Given the description of an element on the screen output the (x, y) to click on. 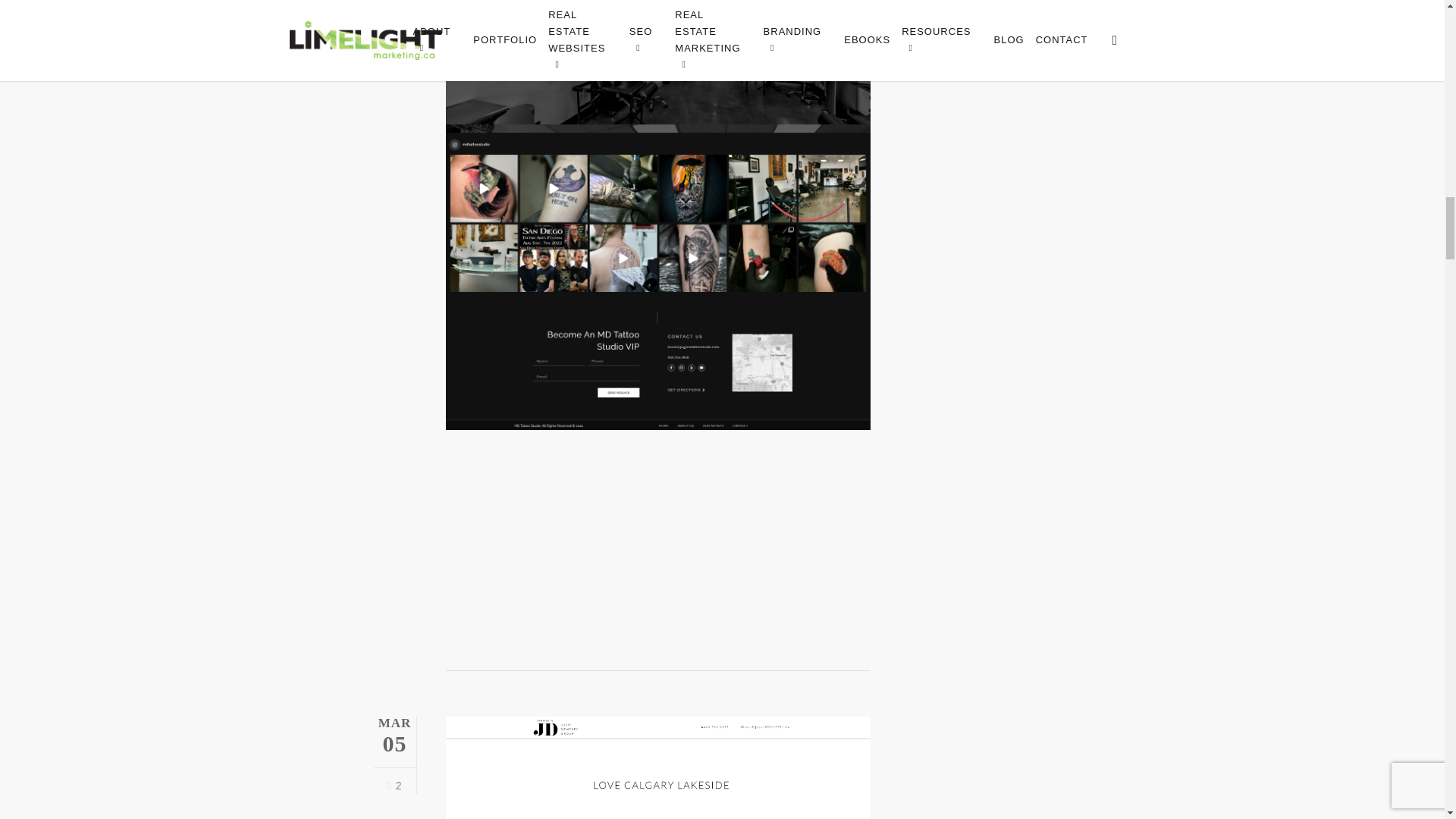
Love this (395, 785)
